Given the description of an element on the screen output the (x, y) to click on. 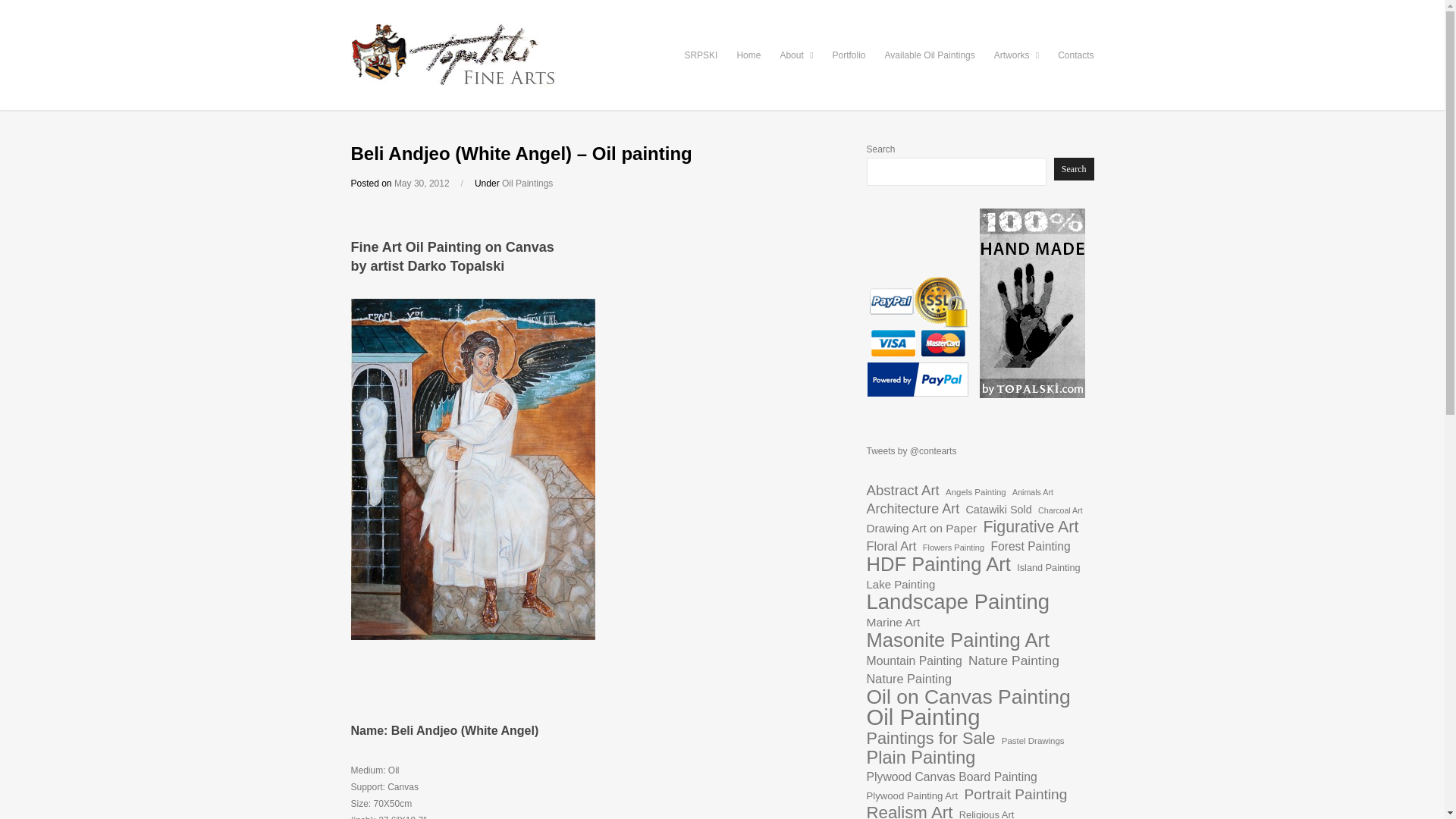
Figurative Art (1031, 526)
About (795, 54)
Flowers Painting (953, 547)
Artworks (1016, 54)
Oil Paintings (527, 183)
HDF Painting Art (938, 564)
Abstract Art (902, 490)
Available Oil Paintings (930, 54)
Floral Art (890, 545)
